Given the description of an element on the screen output the (x, y) to click on. 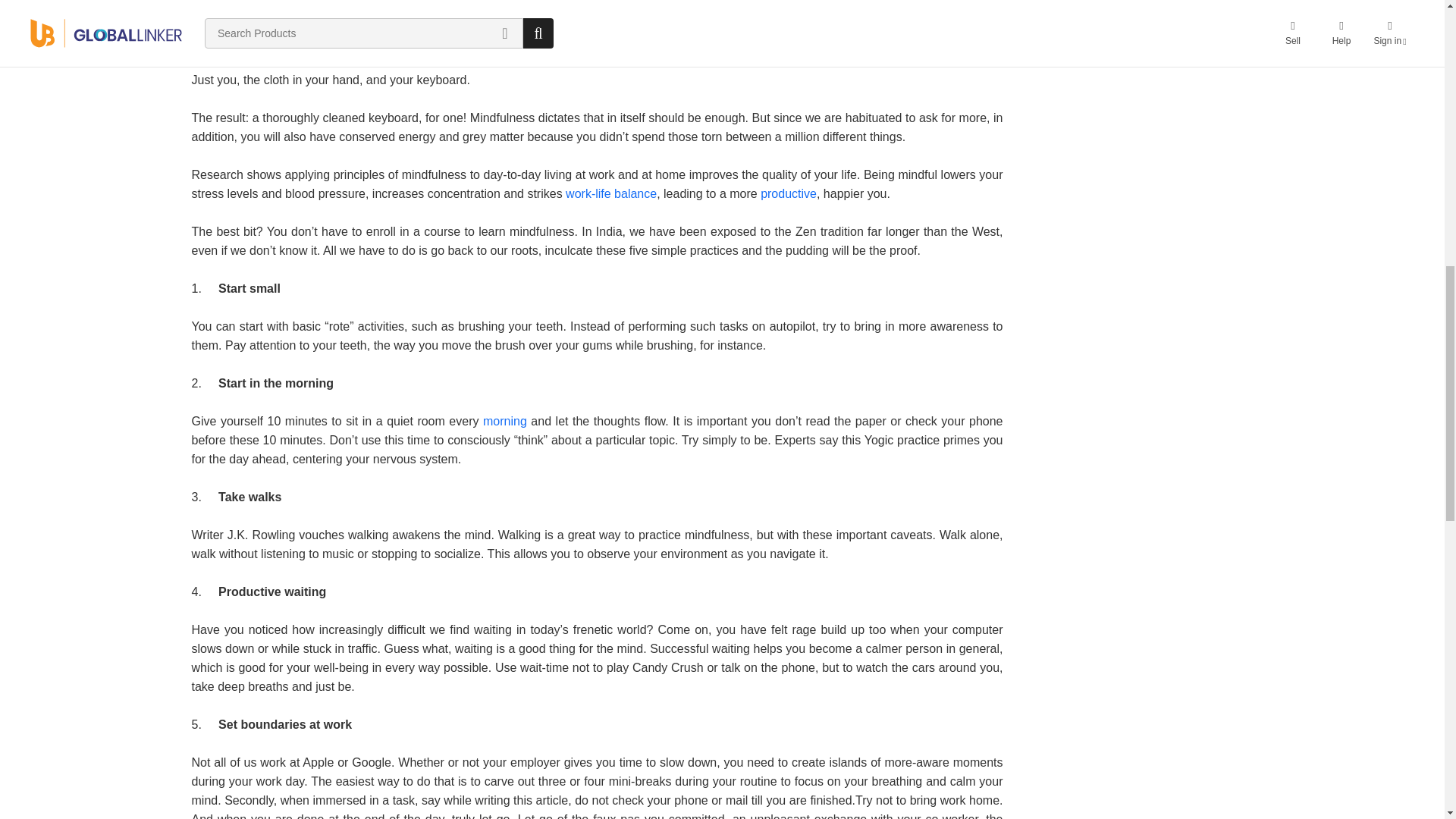
morning (505, 420)
work-life balance (611, 193)
productive (788, 193)
